Given the description of an element on the screen output the (x, y) to click on. 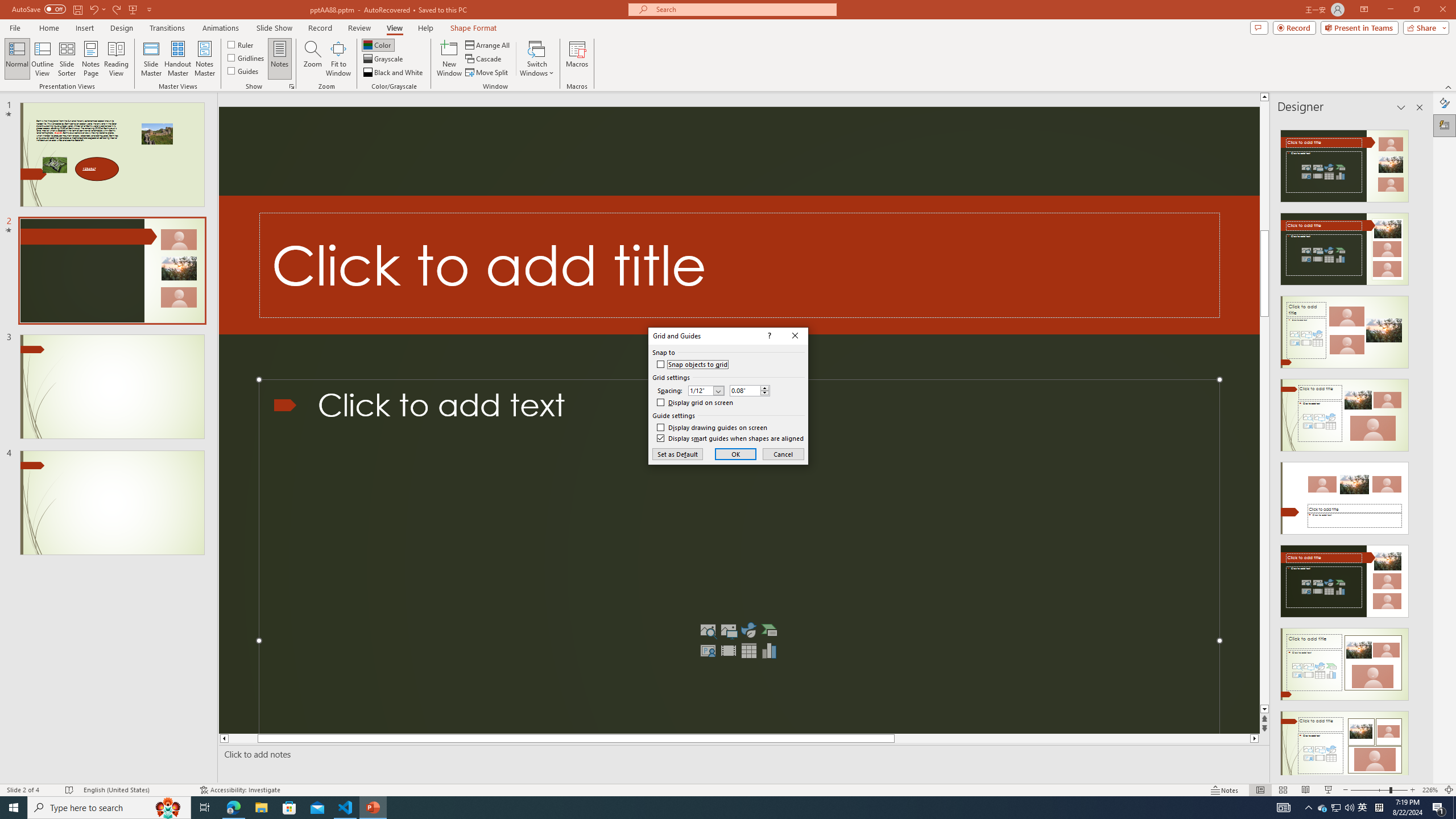
Microsoft Edge - 1 running window (233, 807)
Display smart guides when shapes are aligned (730, 438)
Action Center, 1 new notification (1439, 807)
Insert Cameo (707, 650)
Spacing (706, 390)
Class: NetUIScrollBar (1418, 447)
